Given the description of an element on the screen output the (x, y) to click on. 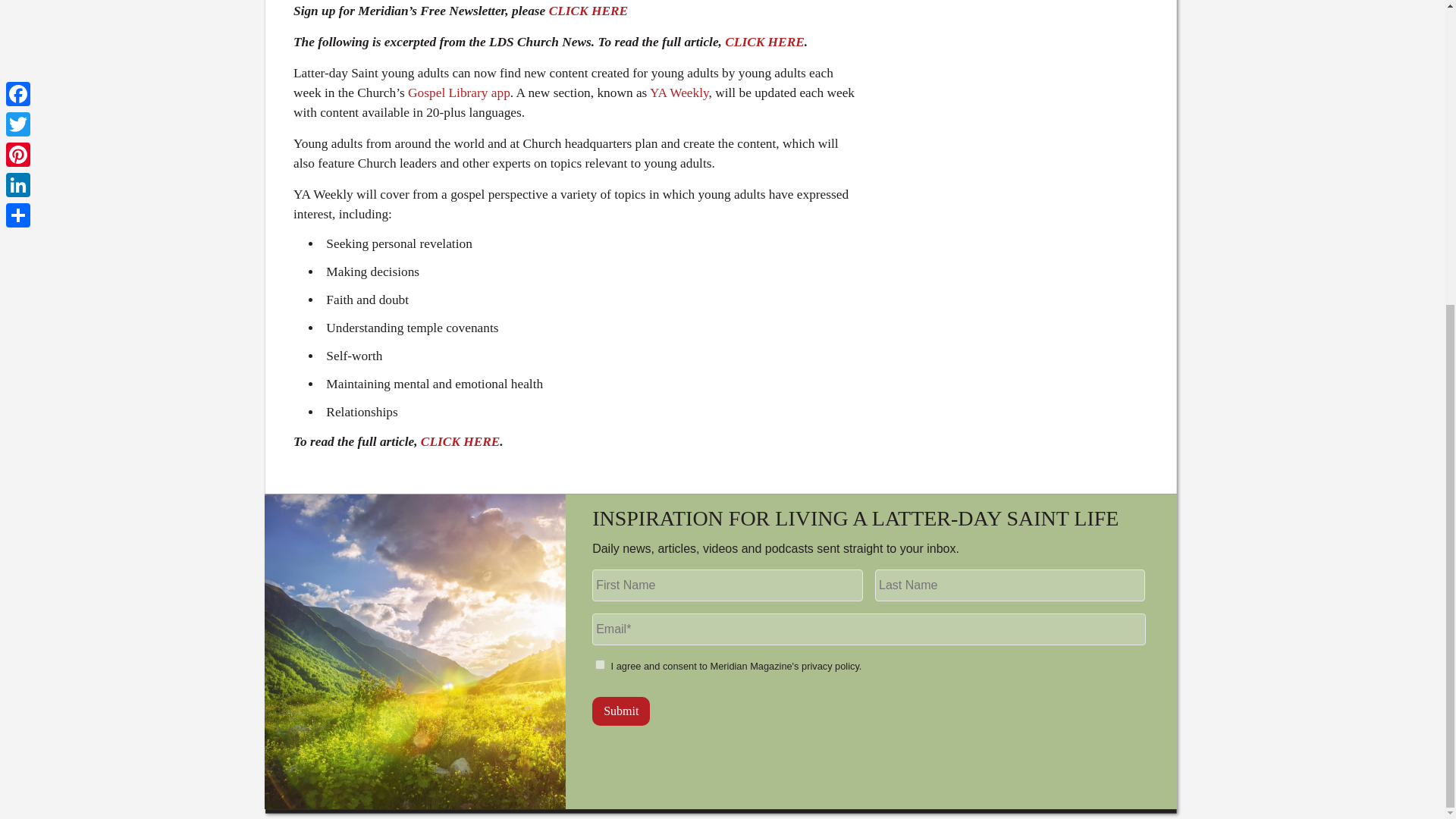
1 (600, 664)
Submit (620, 710)
